Given the description of an element on the screen output the (x, y) to click on. 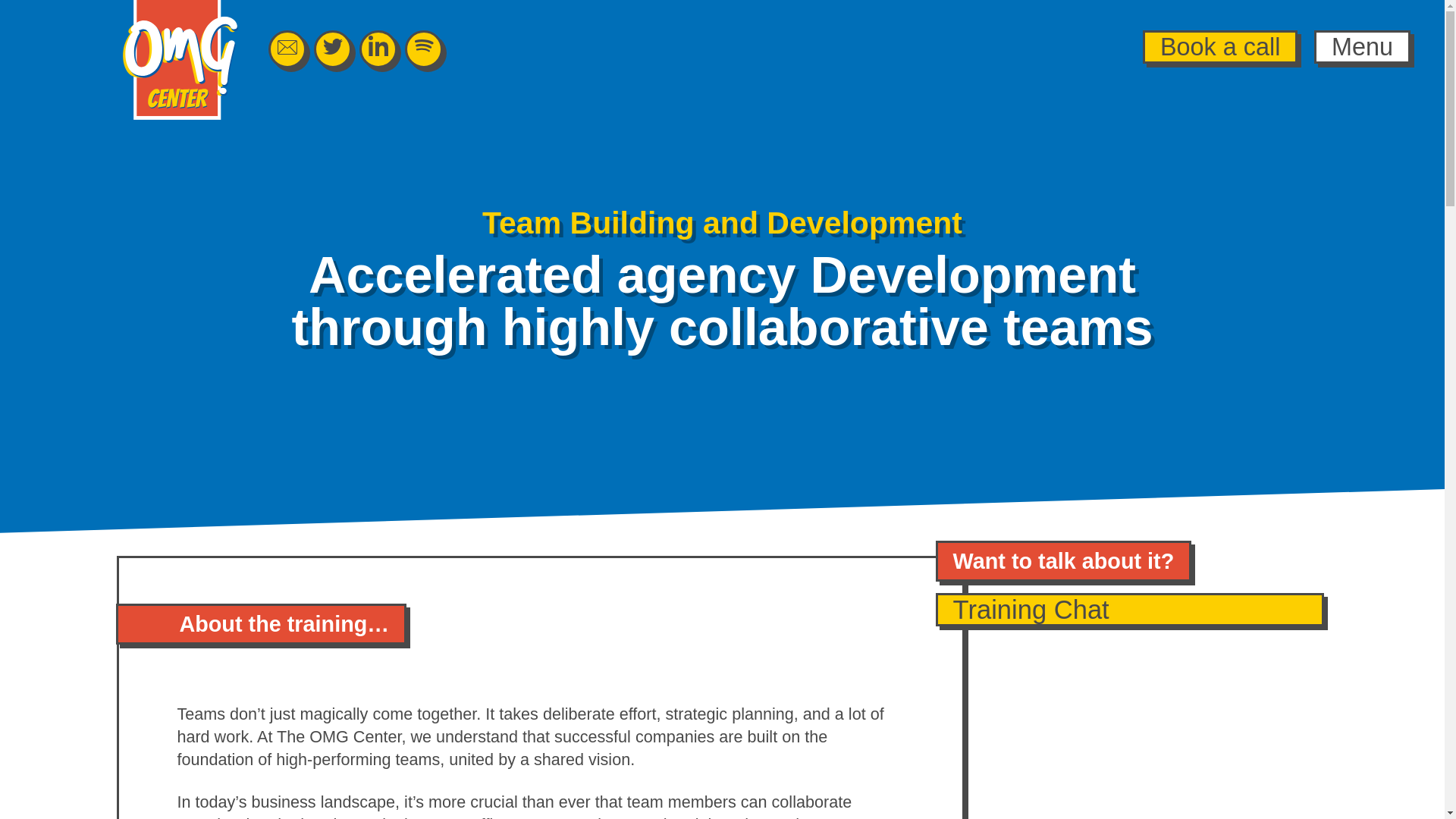
Menu (1362, 46)
Book a call (1219, 46)
Training Chat (1130, 609)
